Given the description of an element on the screen output the (x, y) to click on. 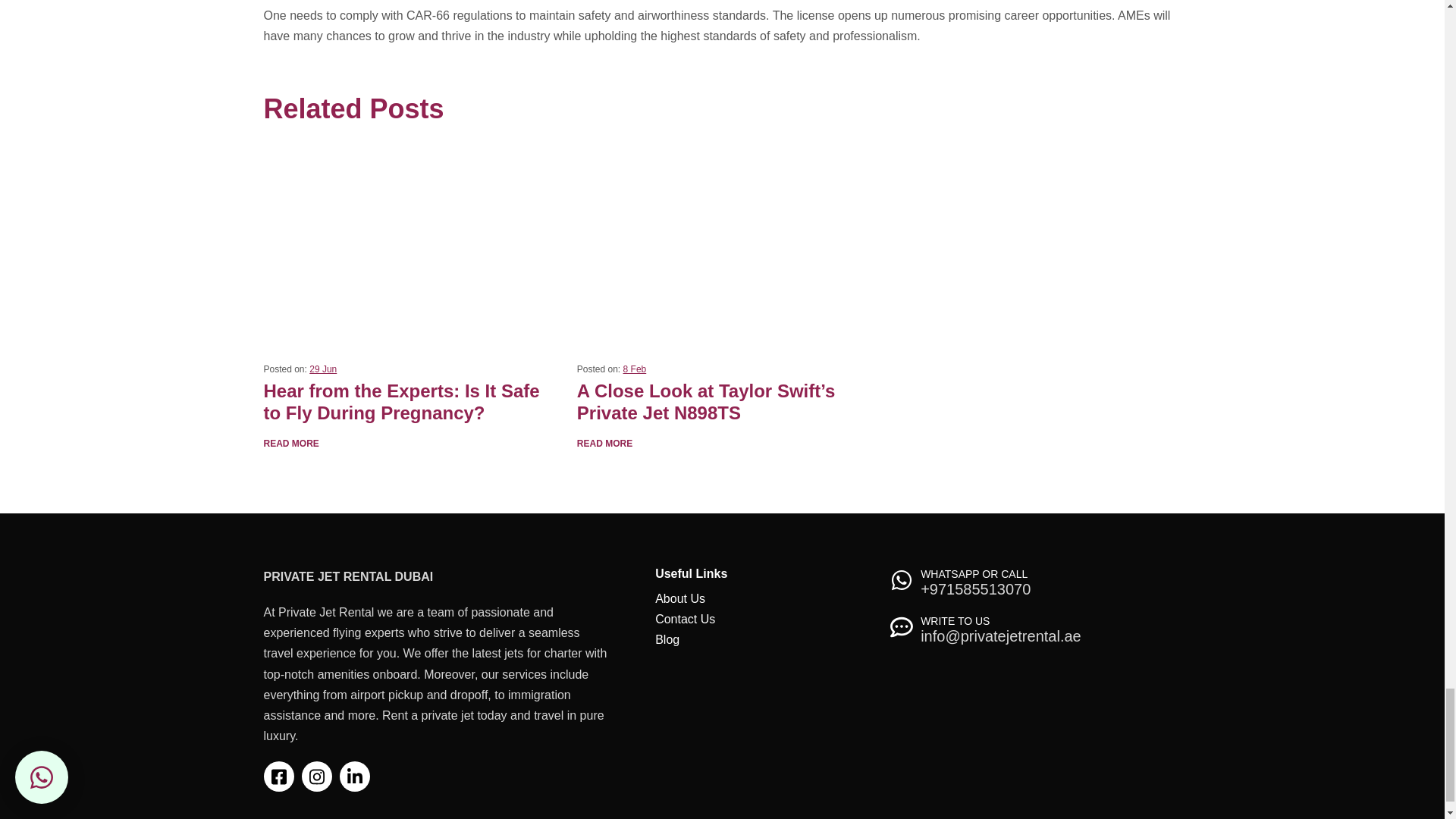
About Us (679, 598)
Contact Us (684, 618)
8 Feb (634, 368)
READ MORE (290, 443)
Blog (667, 639)
29 Jun (322, 368)
Hear from the Experts: Is It Safe to Fly During Pregnancy? (408, 243)
Hear from the Experts: Is It Safe to Fly During Pregnancy? (408, 402)
READ MORE (603, 443)
